Given the description of an element on the screen output the (x, y) to click on. 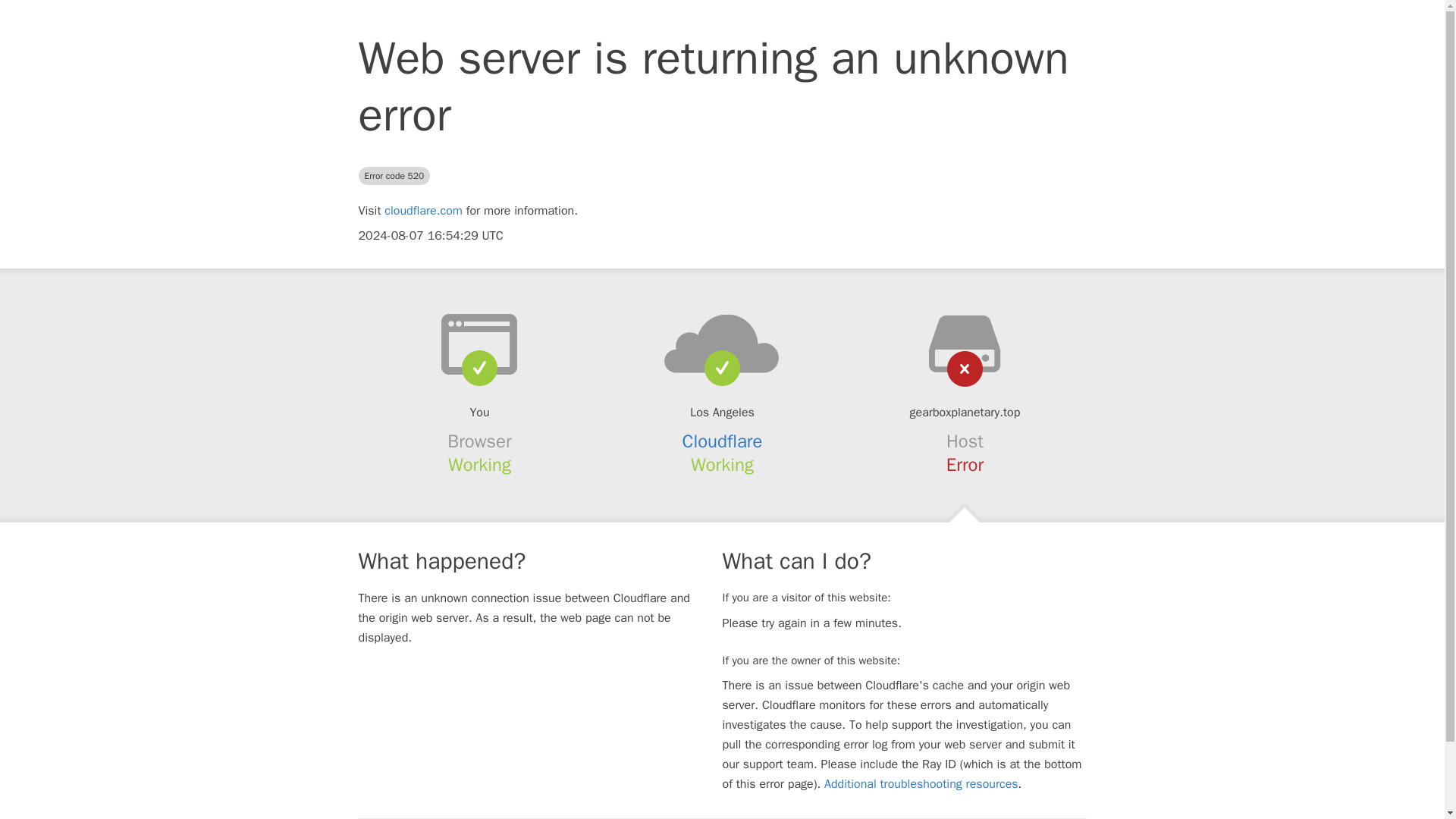
Additional troubleshooting resources (920, 783)
cloudflare.com (423, 210)
Cloudflare (722, 440)
